Given the description of an element on the screen output the (x, y) to click on. 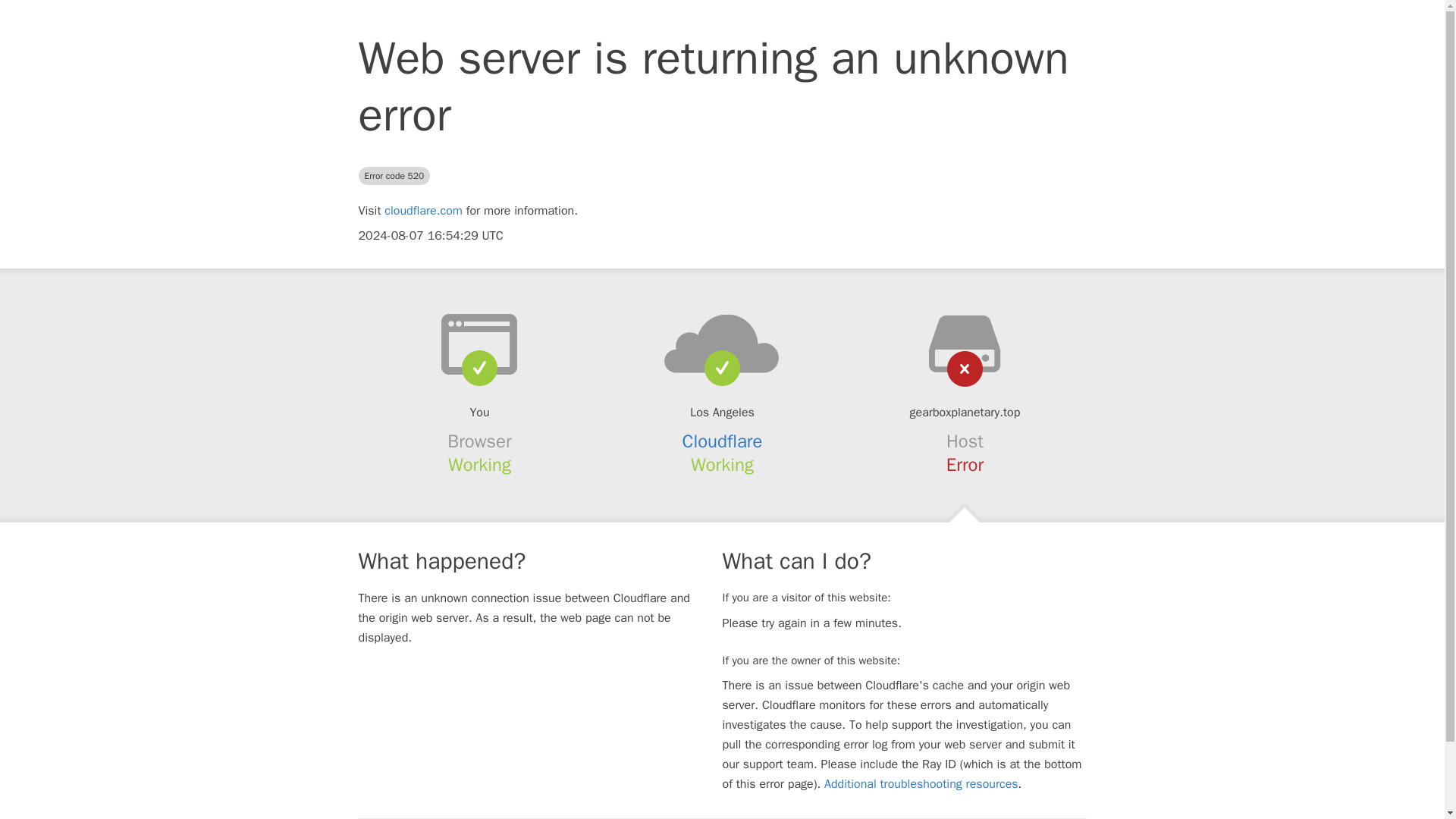
Additional troubleshooting resources (920, 783)
cloudflare.com (423, 210)
Cloudflare (722, 440)
